Given the description of an element on the screen output the (x, y) to click on. 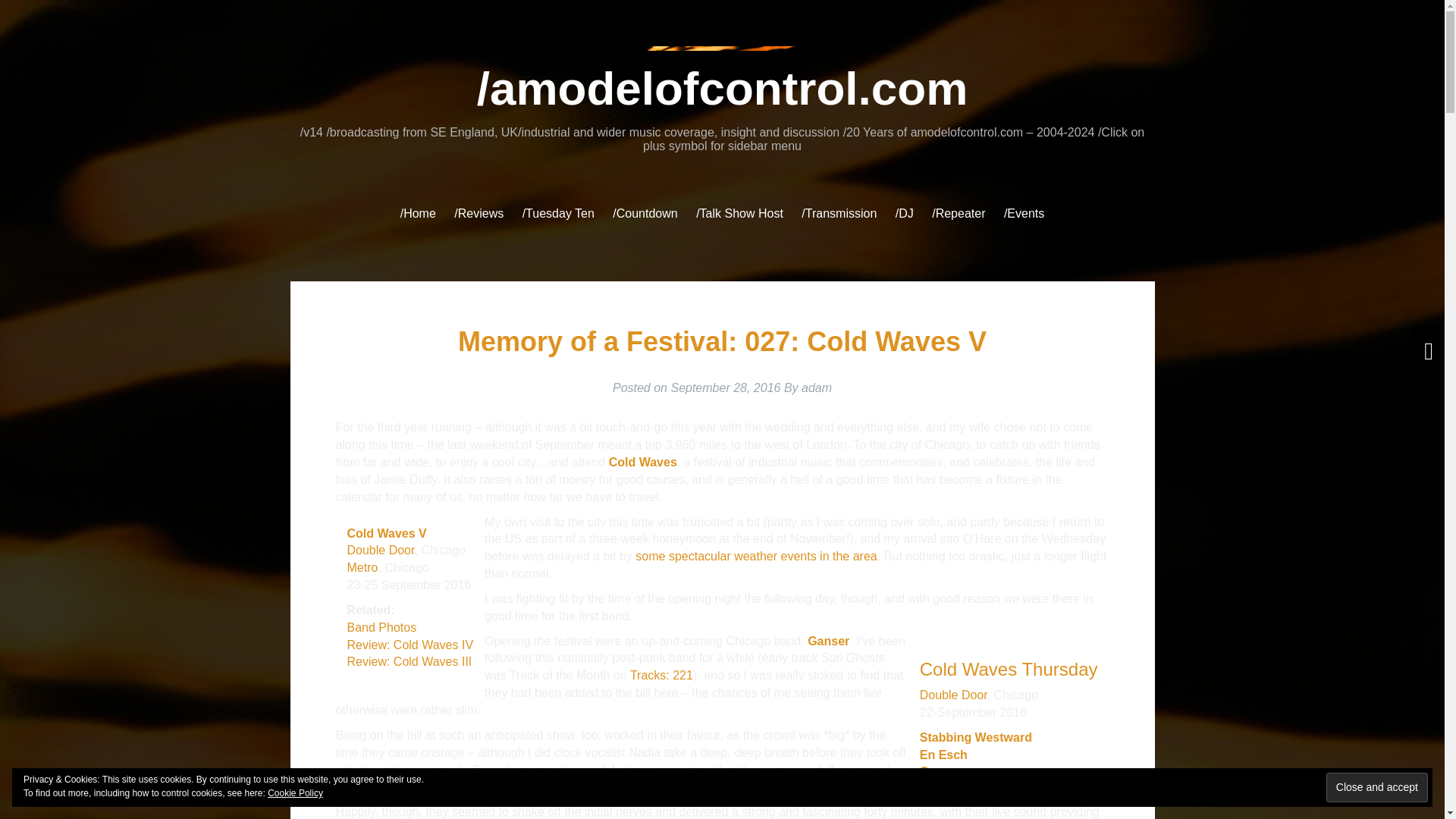
Close and accept (1377, 787)
